Given the description of an element on the screen output the (x, y) to click on. 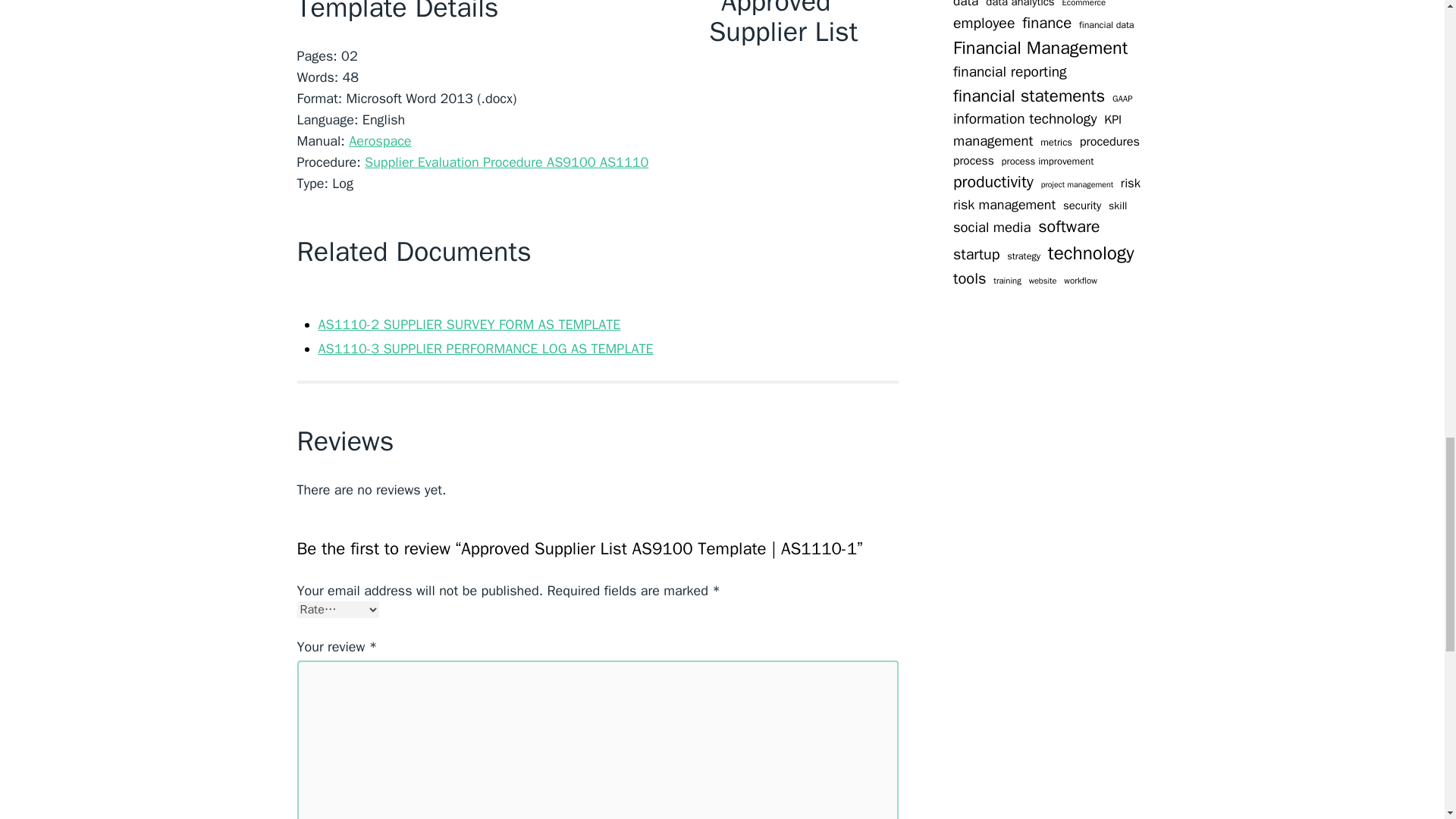
Supplier Performance Log AS Template (485, 348)
AS9100 Procedures Manual (379, 140)
Supplier Evaluation Procedure AS9100 AS1110  (506, 161)
Supplier Survey Form AS Template AS1110-2 (469, 324)
